Given the description of an element on the screen output the (x, y) to click on. 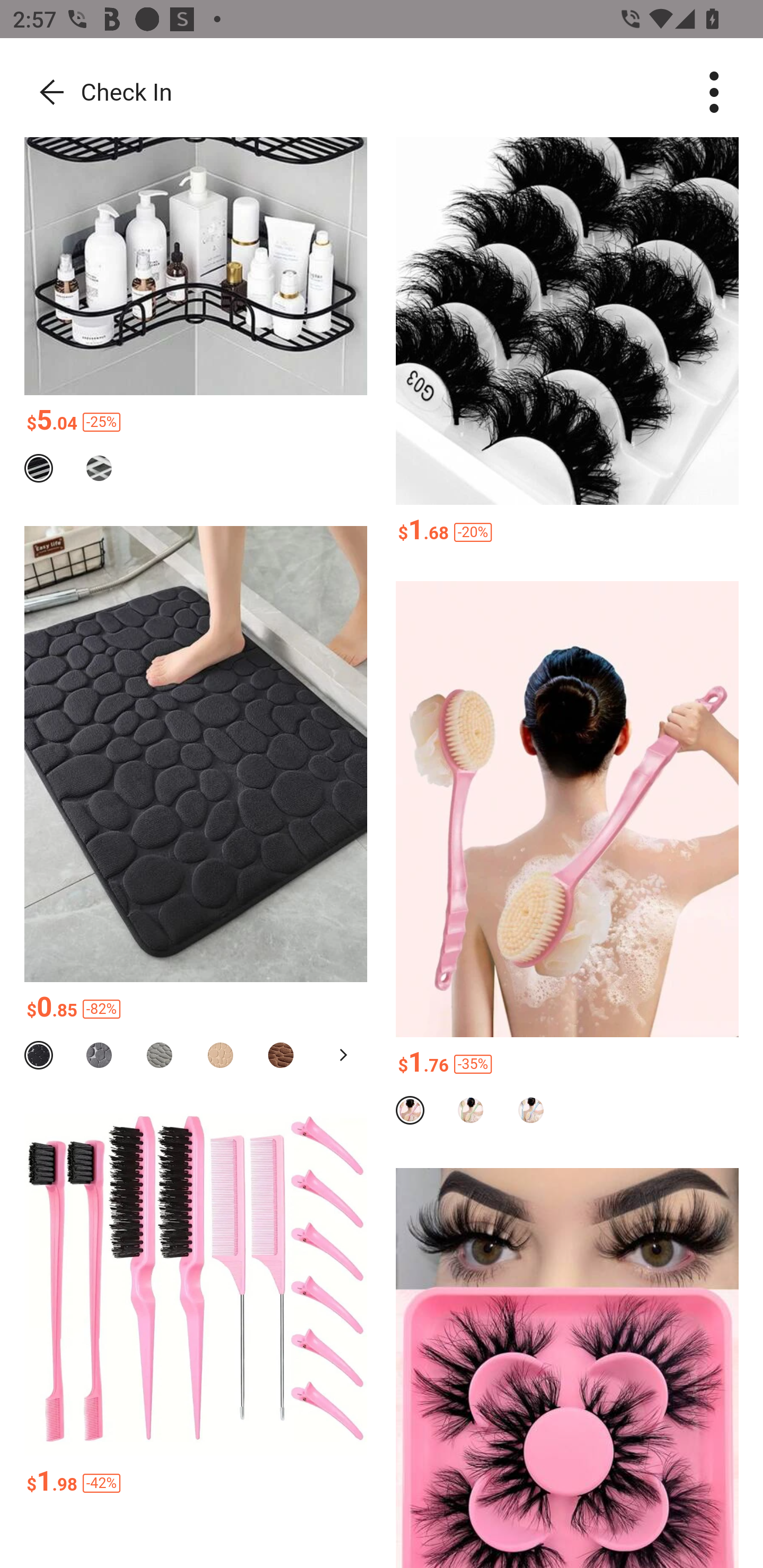
Check In (98, 92)
$5.04-25% (195, 422)
$1.68-20% (566, 532)
$0.85-82% (195, 1009)
$1.76-35% (566, 1064)
$1.98-42% (195, 1483)
